Given the description of an element on the screen output the (x, y) to click on. 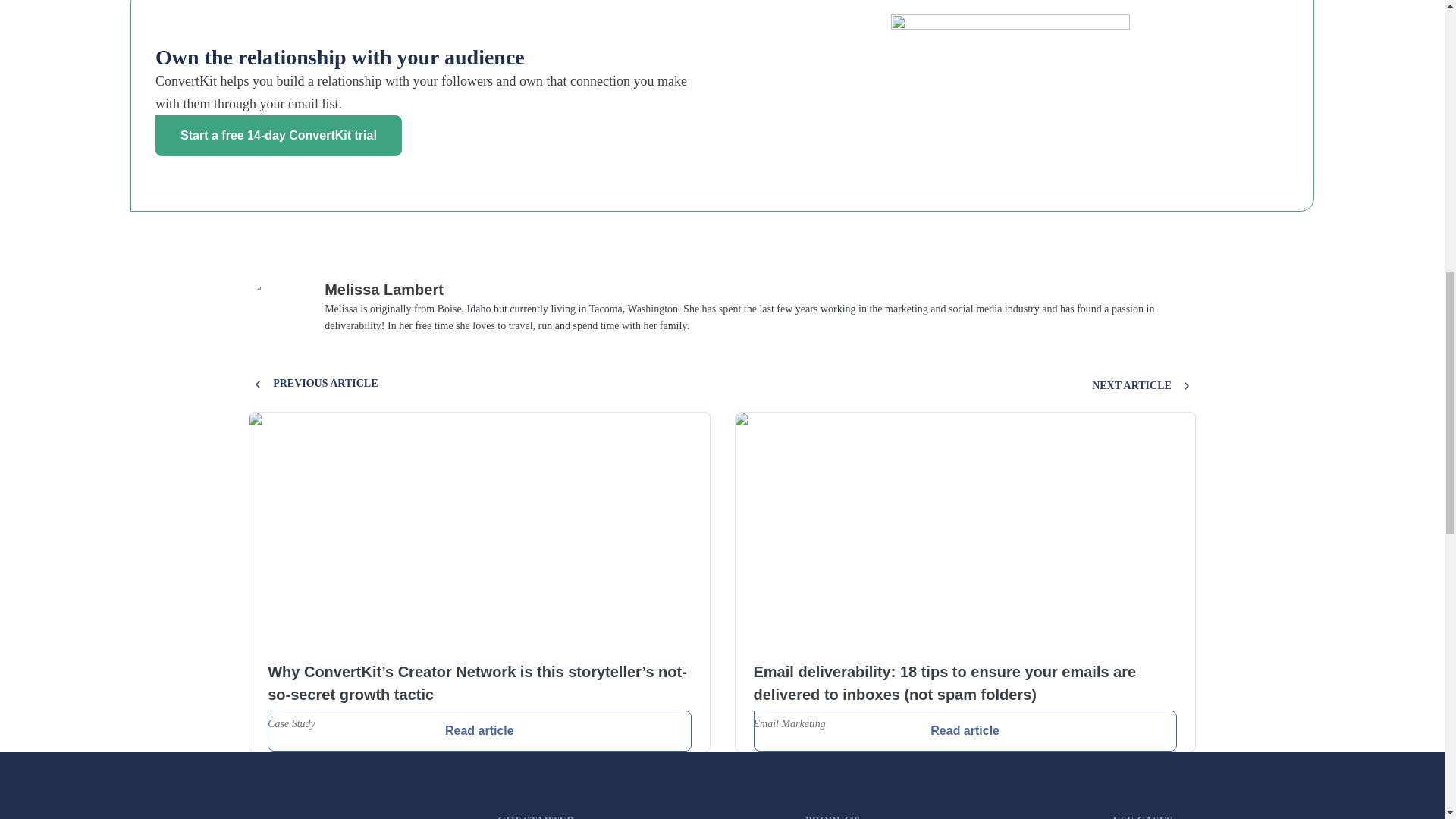
Read article (965, 730)
NEXT ARTICLE (1143, 385)
Start a free 14-day ConvertKit trial (278, 135)
PREVIOUS ARTICLE (312, 383)
Read article (478, 730)
